Given the description of an element on the screen output the (x, y) to click on. 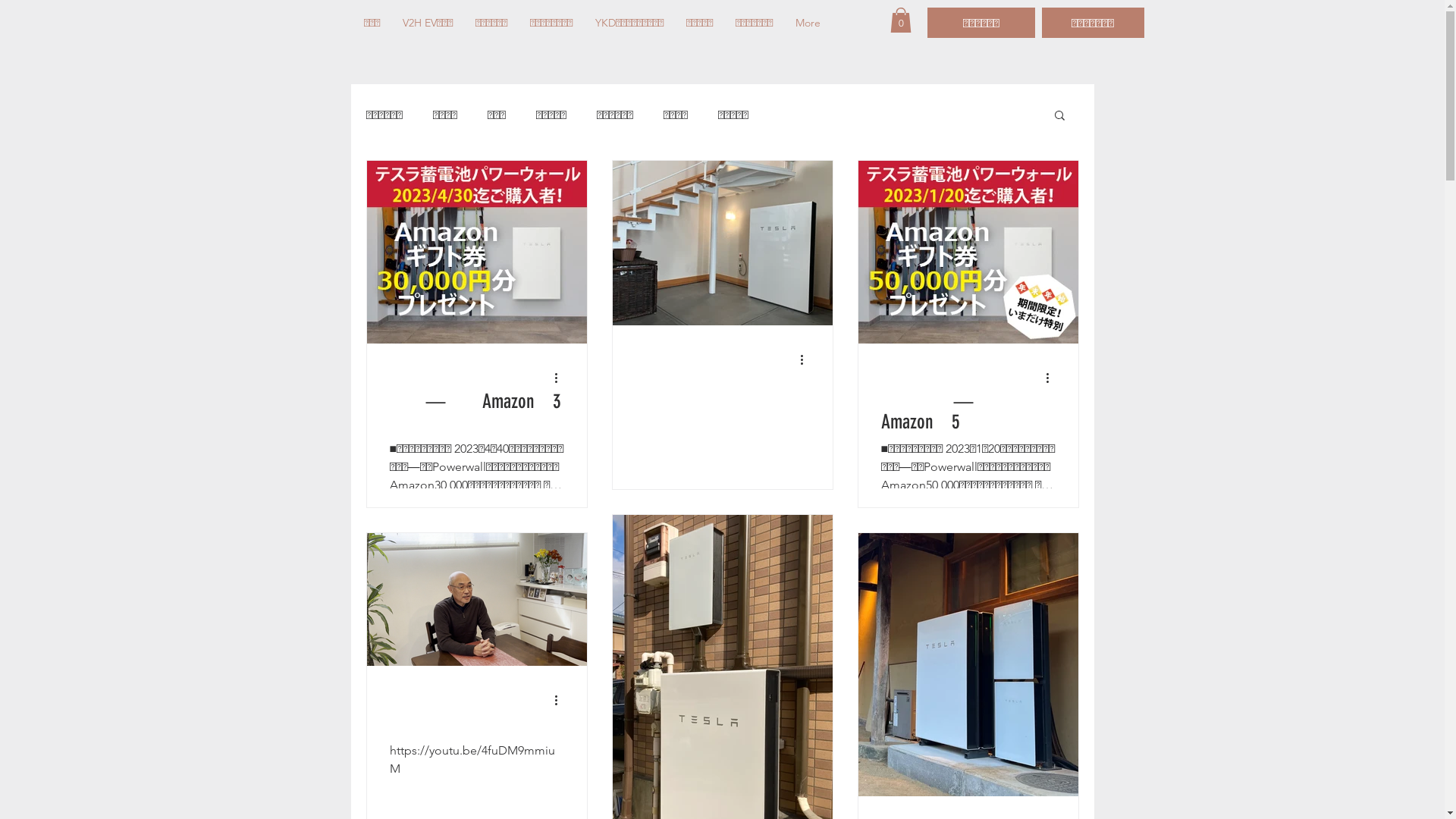
0 Element type: text (900, 19)
